Given the description of an element on the screen output the (x, y) to click on. 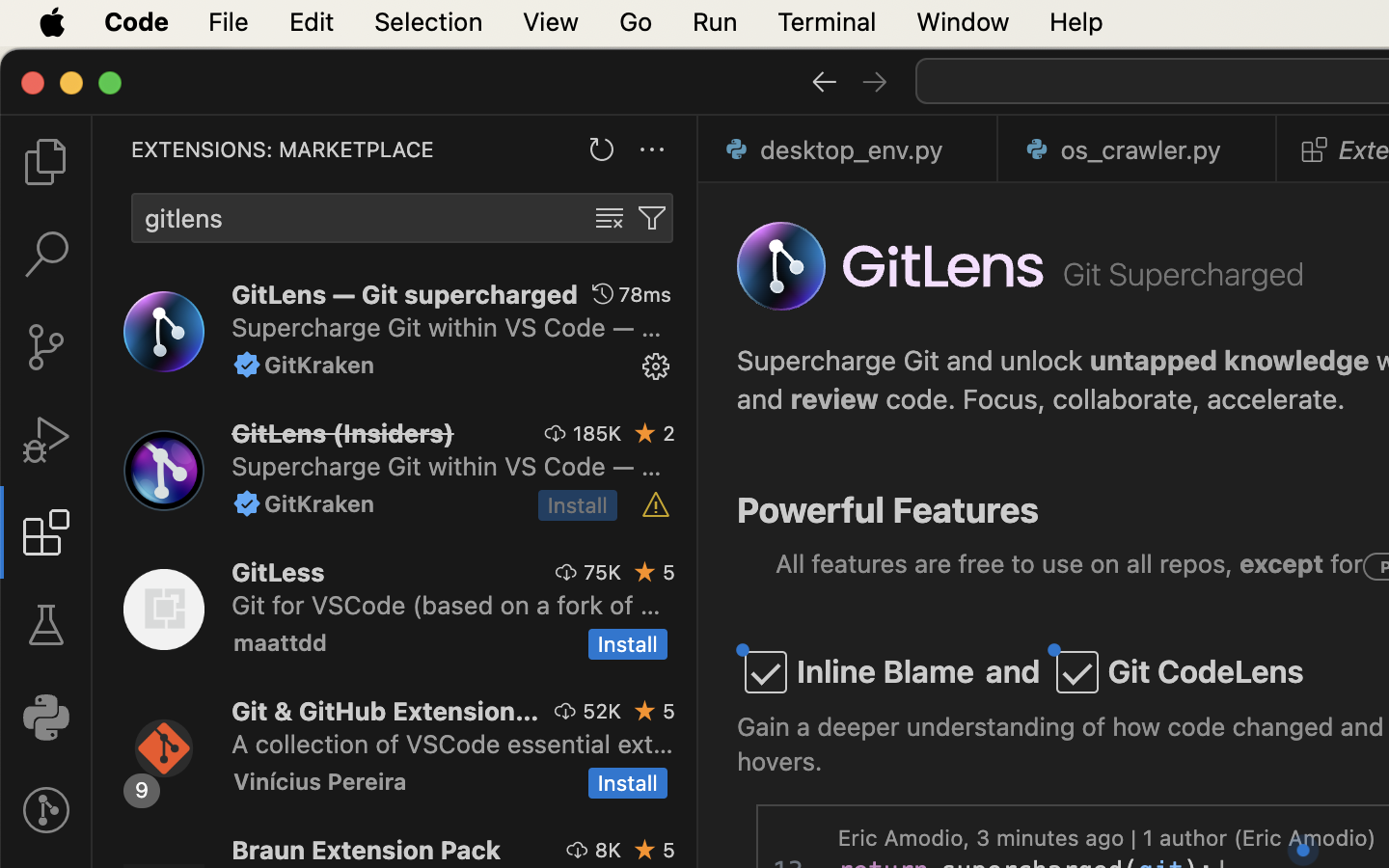
maattdd Element type: AXStaticText (280, 641)
GitLens — Git supercharged Element type: AXStaticText (404, 293)
0 desktop_env.py   Element type: AXRadioButton (848, 149)
review Element type: AXStaticText (834, 398)
Git Supercharged Element type: AXStaticText (1184, 273)
